Given the description of an element on the screen output the (x, y) to click on. 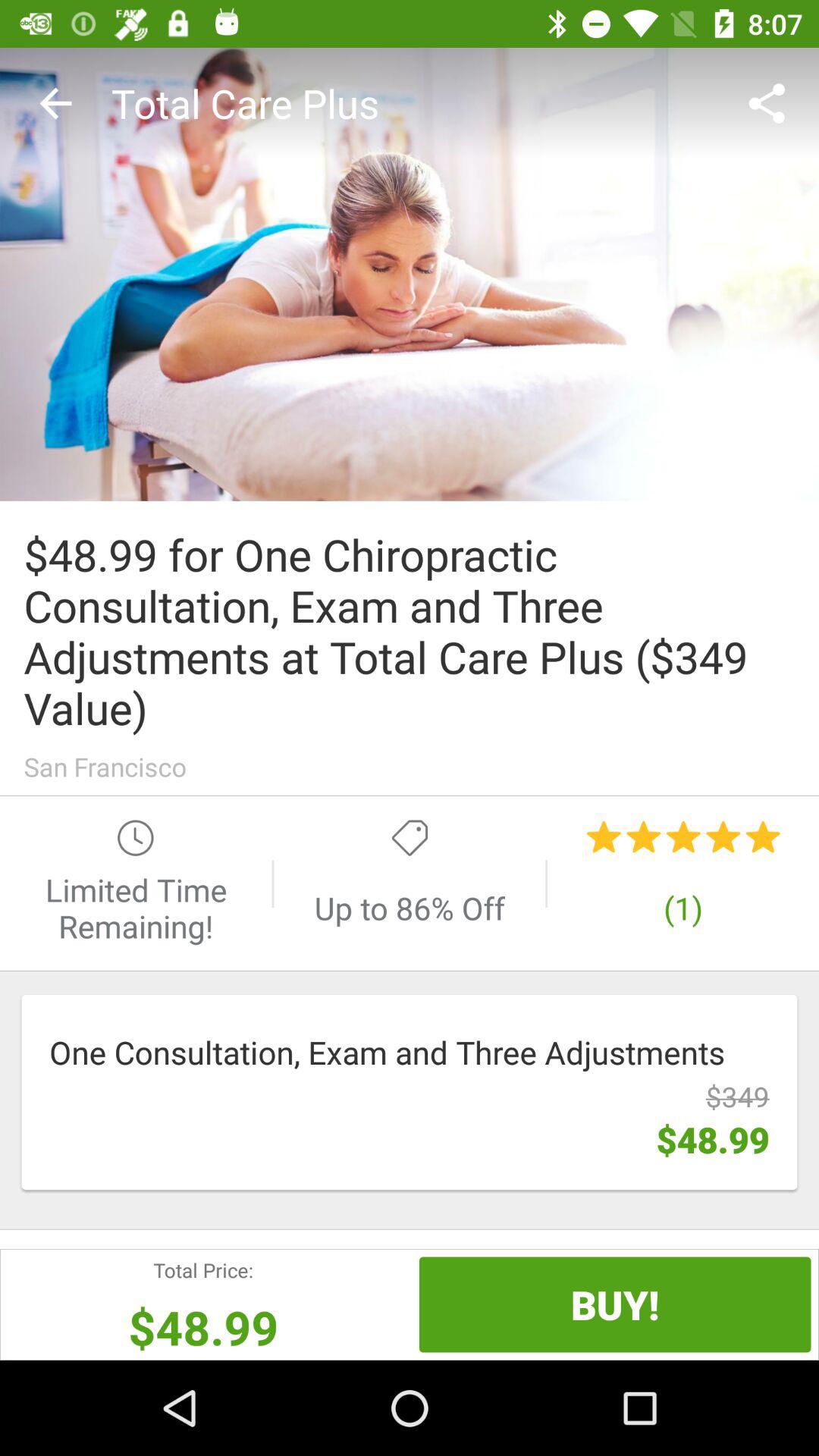
press the icon below $48.99 (615, 1304)
